Given the description of an element on the screen output the (x, y) to click on. 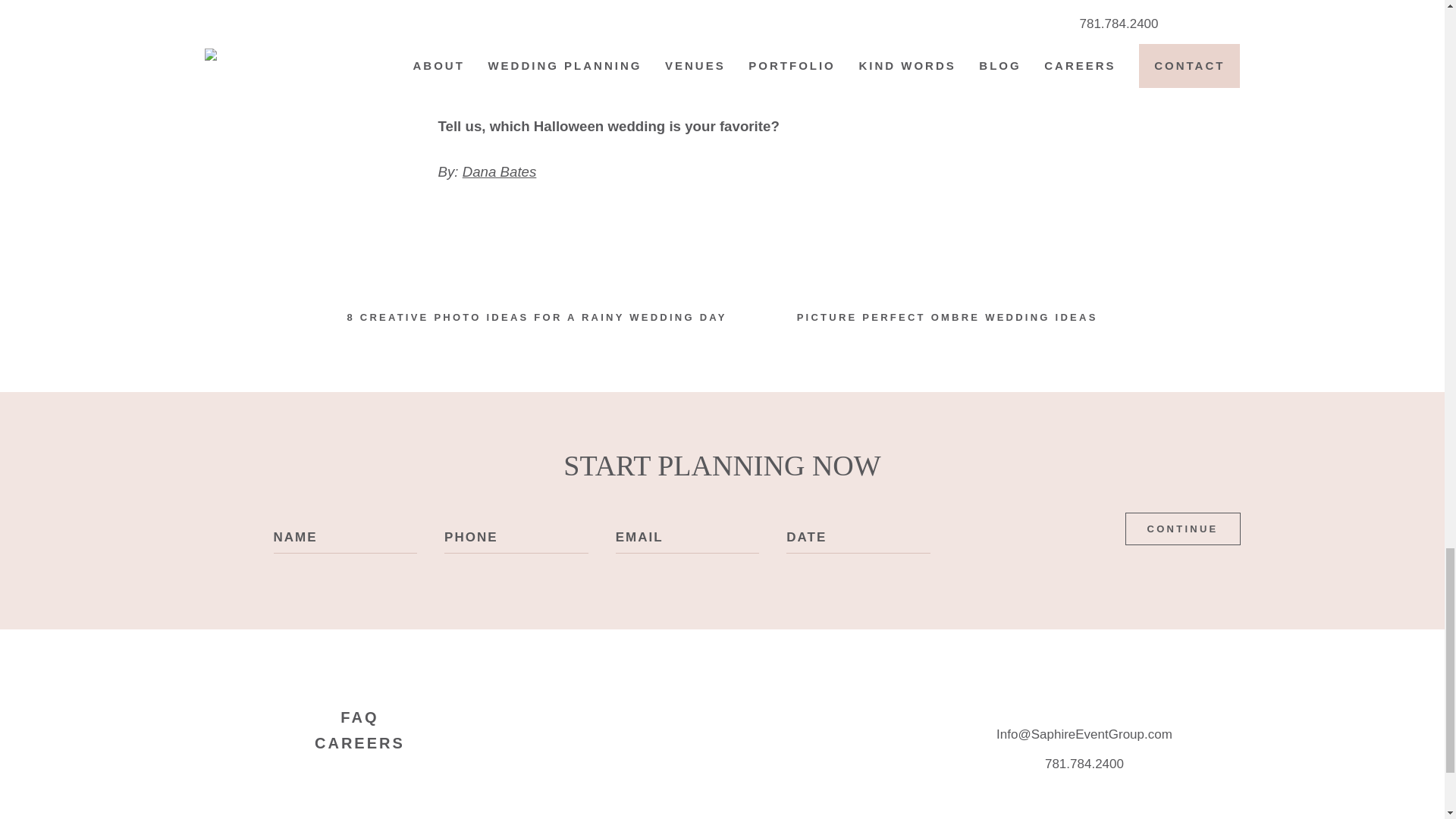
Dana Bates (500, 171)
CAREERS (359, 742)
781.784.2400 (1084, 763)
Dana Bates Google Plus (500, 171)
Continue (1182, 528)
photo credit- whimsical costume wedding: bridalguide.com (621, 81)
FAQ (359, 717)
8 CREATIVE PHOTO IDEAS FOR A RAINY WEDDING DAY (536, 317)
Continue (1182, 528)
PICTURE PERFECT OMBRE WEDDING IDEAS (947, 317)
